Given the description of an element on the screen output the (x, y) to click on. 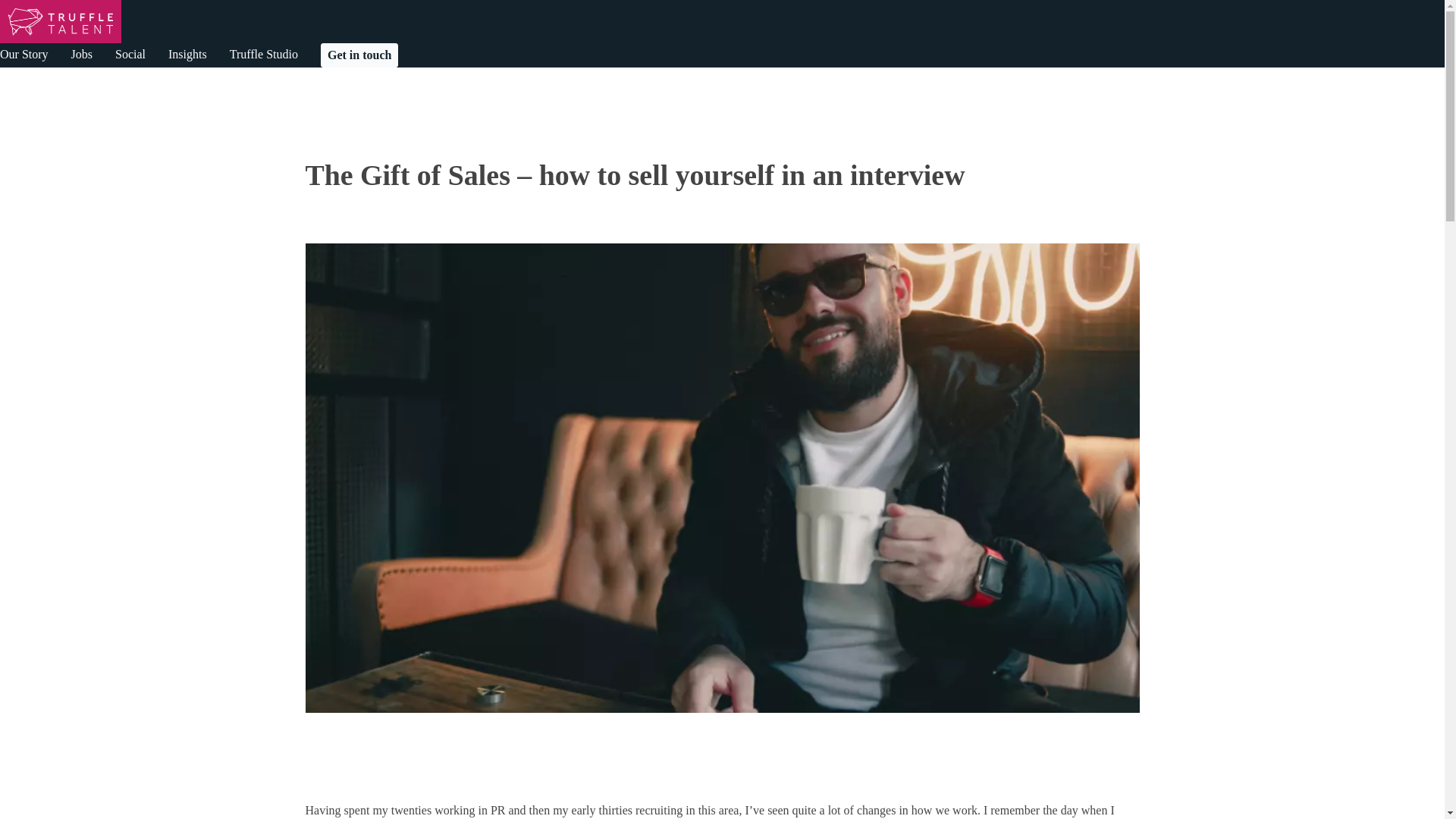
Insights (187, 53)
Get in touch (358, 54)
Truffle Studio (264, 53)
Jobs (82, 53)
Social (130, 53)
Our Story (24, 53)
